Given the description of an element on the screen output the (x, y) to click on. 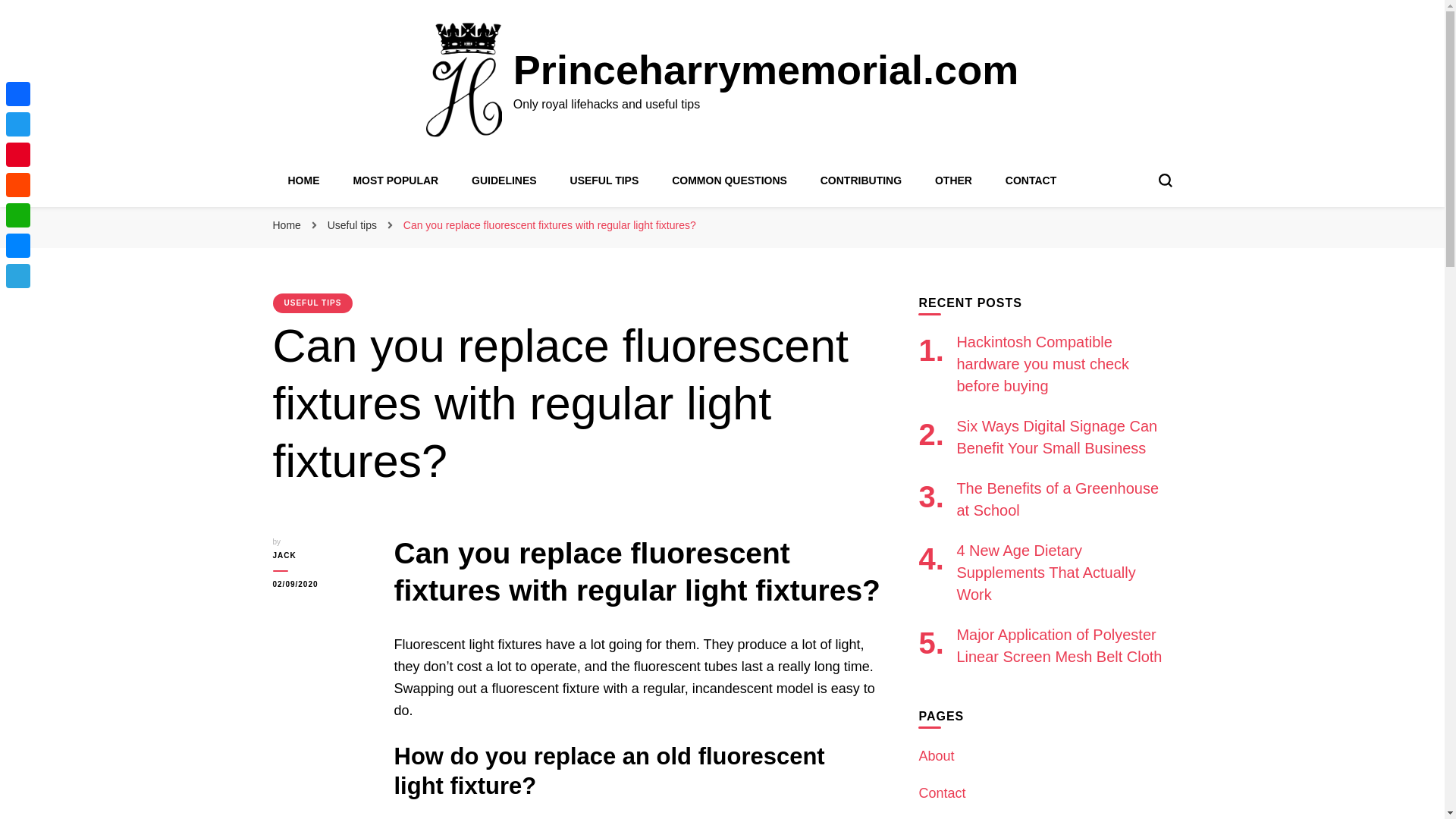
Messenger (17, 245)
GUIDELINES (504, 180)
Princeharrymemorial.com (765, 69)
OTHER (953, 180)
Pinterest (17, 154)
Facebook (17, 93)
Reddit (17, 184)
Home (287, 224)
CONTACT (1031, 180)
Useful tips (353, 224)
WhatsApp (17, 214)
Telegram (17, 276)
Twitter (17, 123)
MOST POPULAR (395, 180)
